Given the description of an element on the screen output the (x, y) to click on. 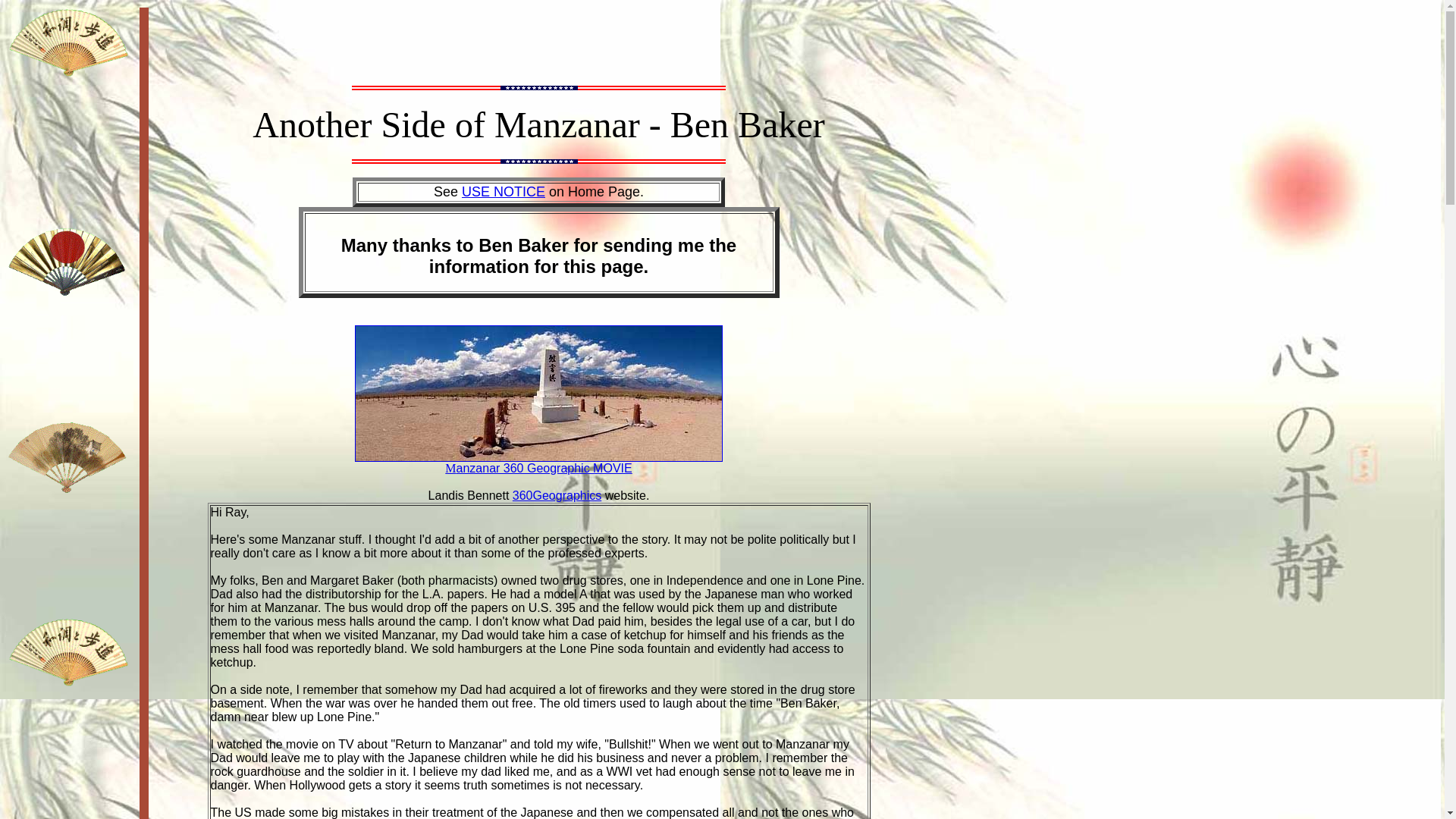
USE NOTICE (502, 191)
Manzanar 360 Geographic MOVIE (538, 463)
360Geographics (556, 495)
